Given the description of an element on the screen output the (x, y) to click on. 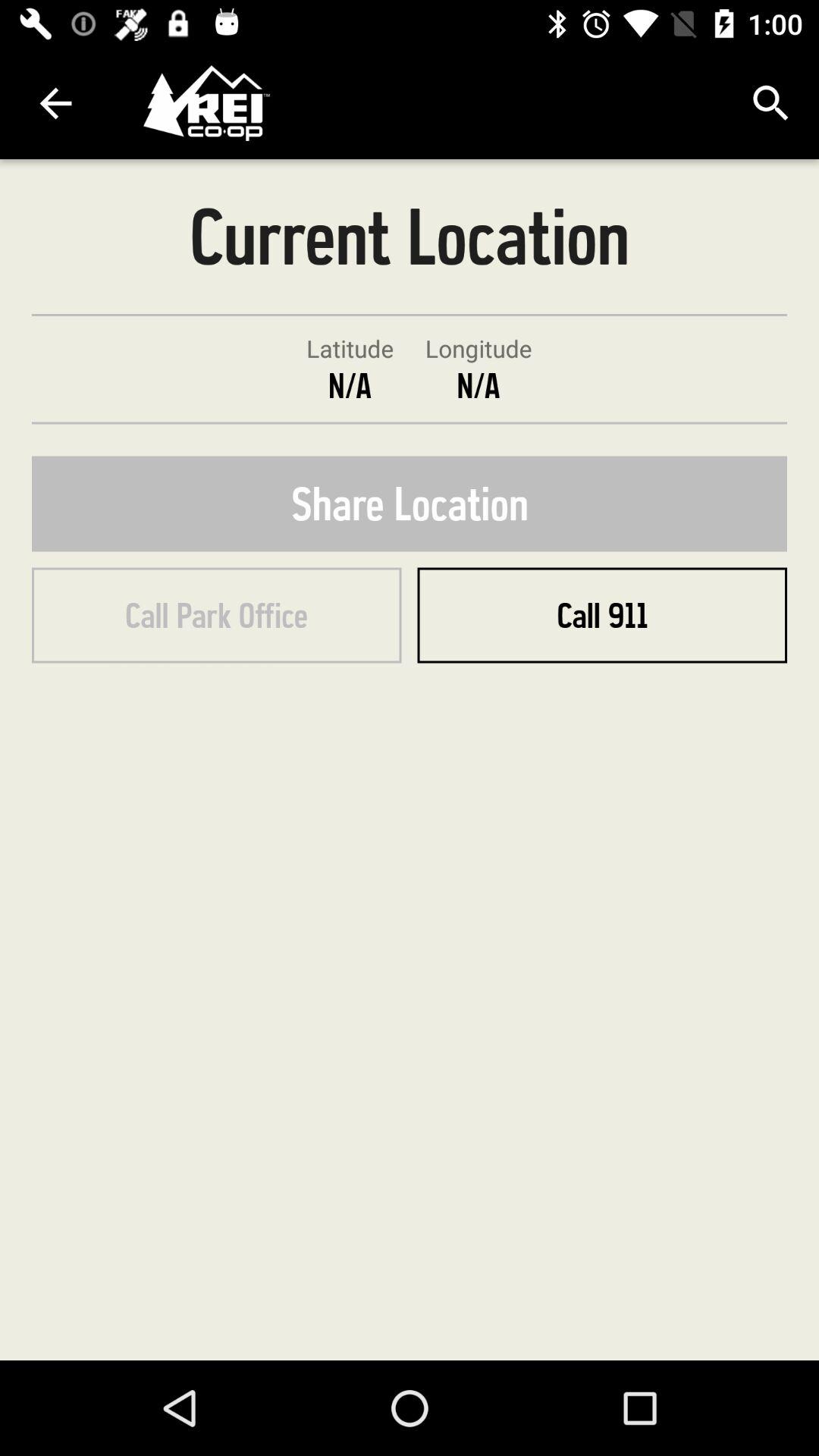
tap item to the right of call park office item (602, 615)
